Given the description of an element on the screen output the (x, y) to click on. 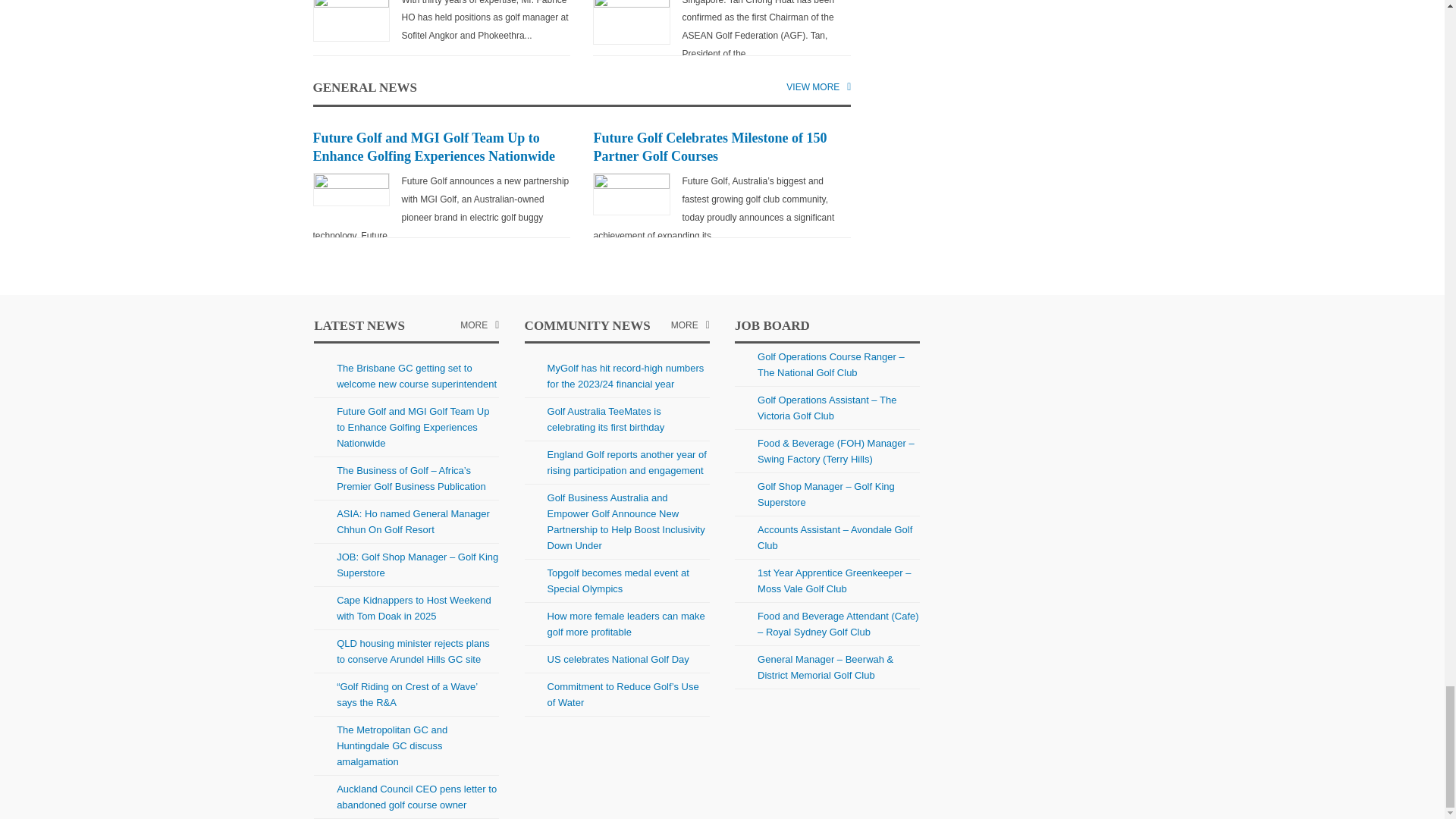
Future Golf Celebrates Milestone of 150 Partner Golf Courses (709, 146)
